Given the description of an element on the screen output the (x, y) to click on. 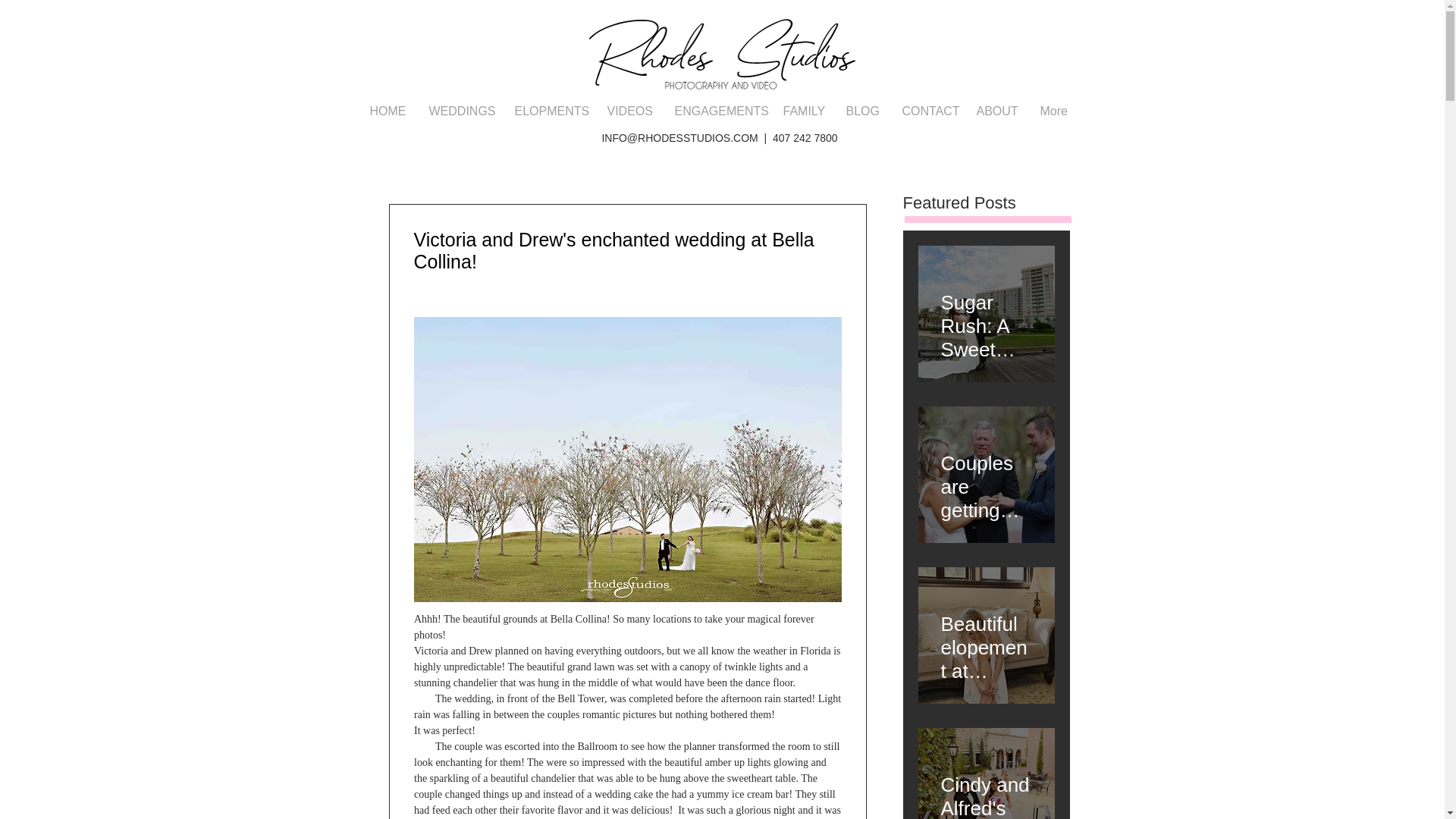
ELOPMENTS (549, 111)
HOME (387, 111)
FAMILY (802, 111)
ABOUT (995, 111)
VIDEOS (629, 111)
ENGAGEMENTS (716, 111)
BLOG (861, 111)
CONTACT (926, 111)
WEDDINGS (459, 111)
